Given the description of an element on the screen output the (x, y) to click on. 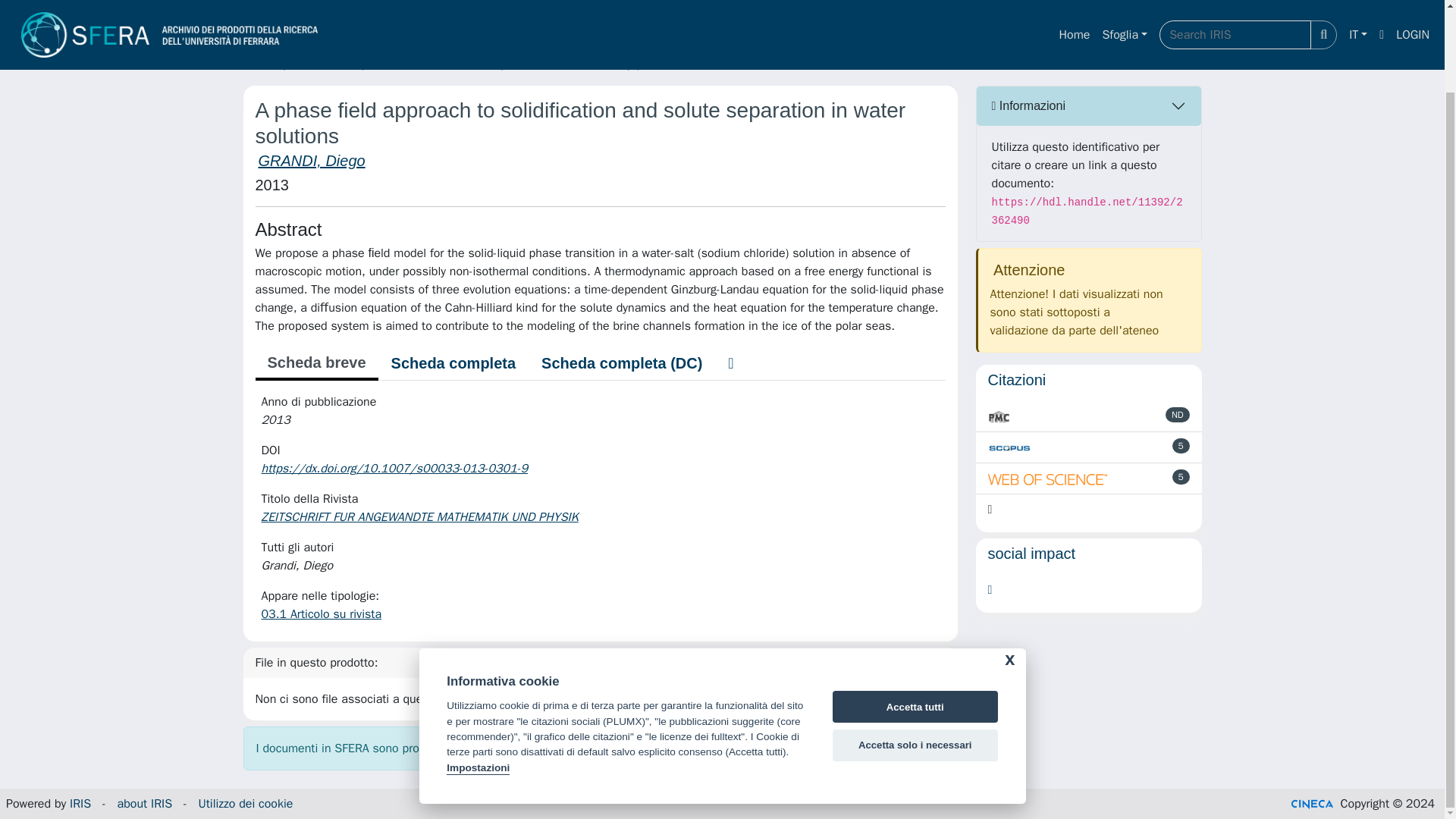
03.1 Articolo su rivista (320, 613)
 Informazioni (1088, 106)
Scheda completa (453, 363)
03.1 Articolo su rivista (709, 64)
aggiornato in data 07-08-2024 18:27 (1180, 445)
ARIC UNIFE (325, 64)
ZEITSCHRIFT FUR ANGEWANDTE MATHEMATIK UND PHYSIK (420, 516)
Scheda breve (315, 363)
GRANDI, Diego (311, 160)
SFERA (259, 64)
